Given the description of an element on the screen output the (x, y) to click on. 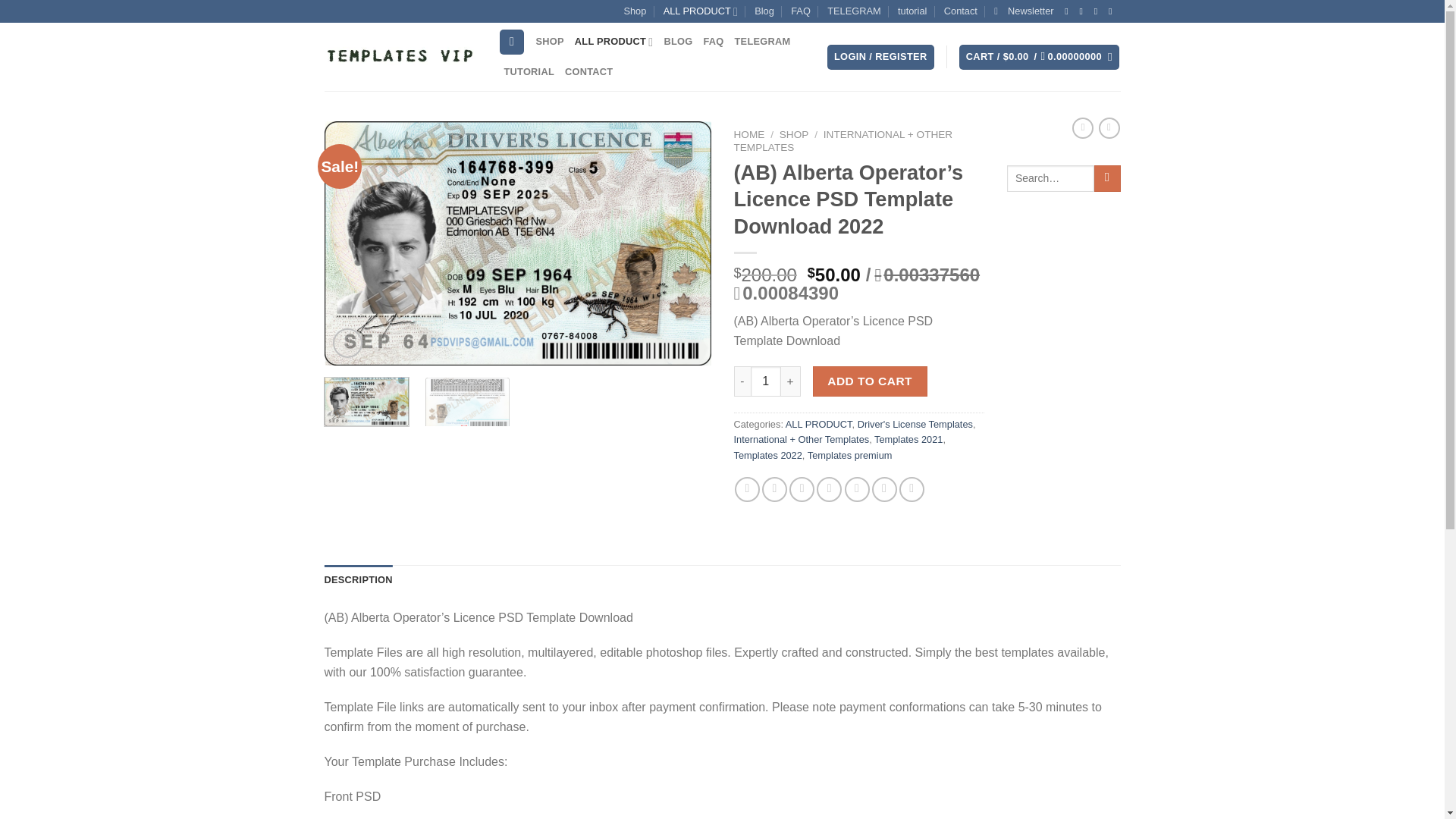
tutorial (912, 11)
Cart (1039, 57)
1 (765, 381)
Sign up for Newsletter (1023, 11)
Login (880, 57)
ALL PRODUCT (614, 41)
SHOP (549, 41)
Share on Facebook (747, 489)
Newsletter (1023, 11)
CONTACT (588, 71)
